Given the description of an element on the screen output the (x, y) to click on. 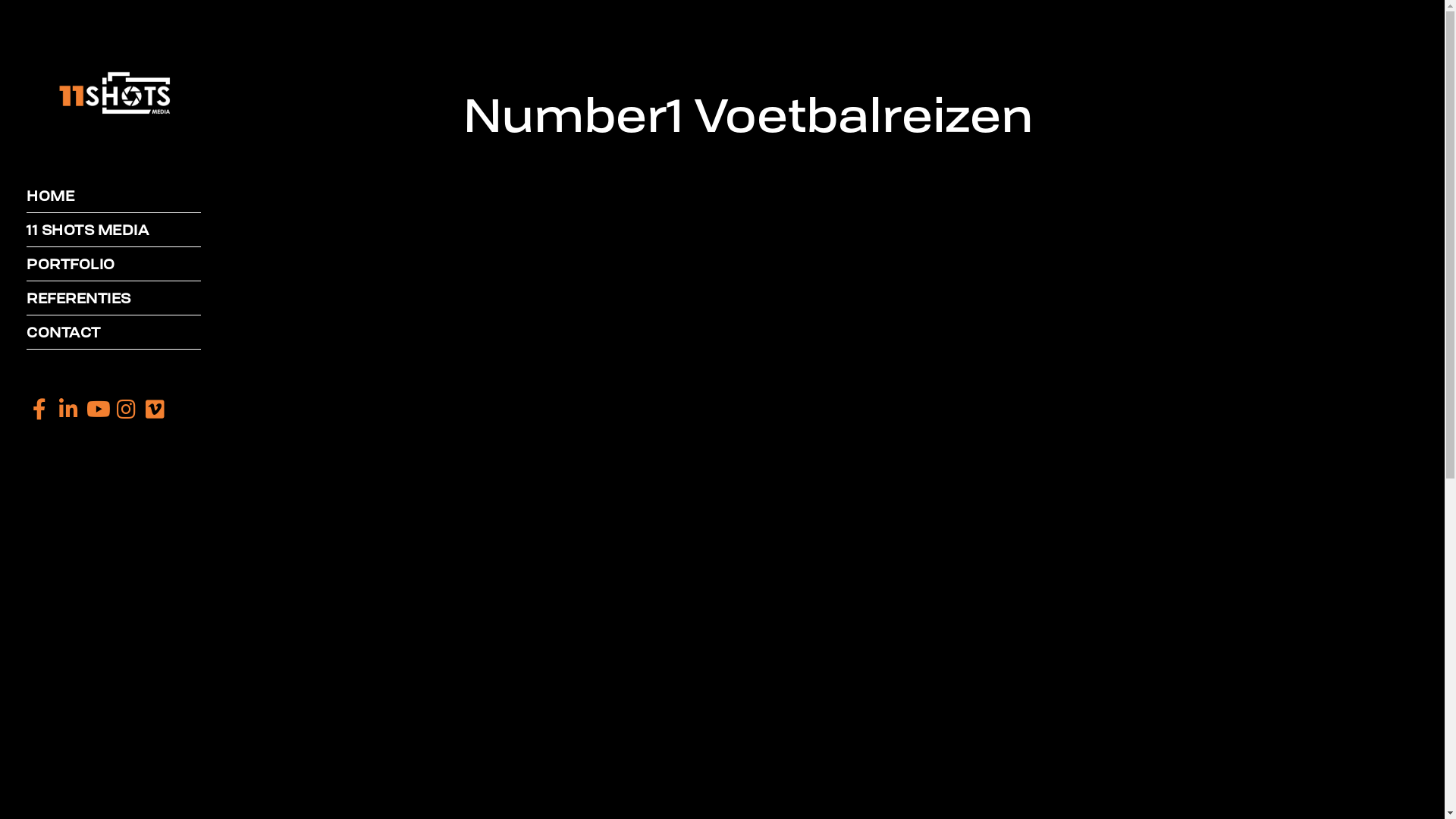
Facebook Element type: hover (39, 409)
11 SHOTS MEDIA Element type: text (113, 230)
LinkedIn Element type: hover (67, 409)
Youtube Element type: hover (96, 409)
Instagram Element type: hover (125, 409)
CONTACT Element type: text (113, 332)
HOME Element type: text (113, 195)
REFERENTIES Element type: text (113, 298)
Vimeo Element type: hover (154, 409)
PORTFOLIO Element type: text (113, 264)
